Given the description of an element on the screen output the (x, y) to click on. 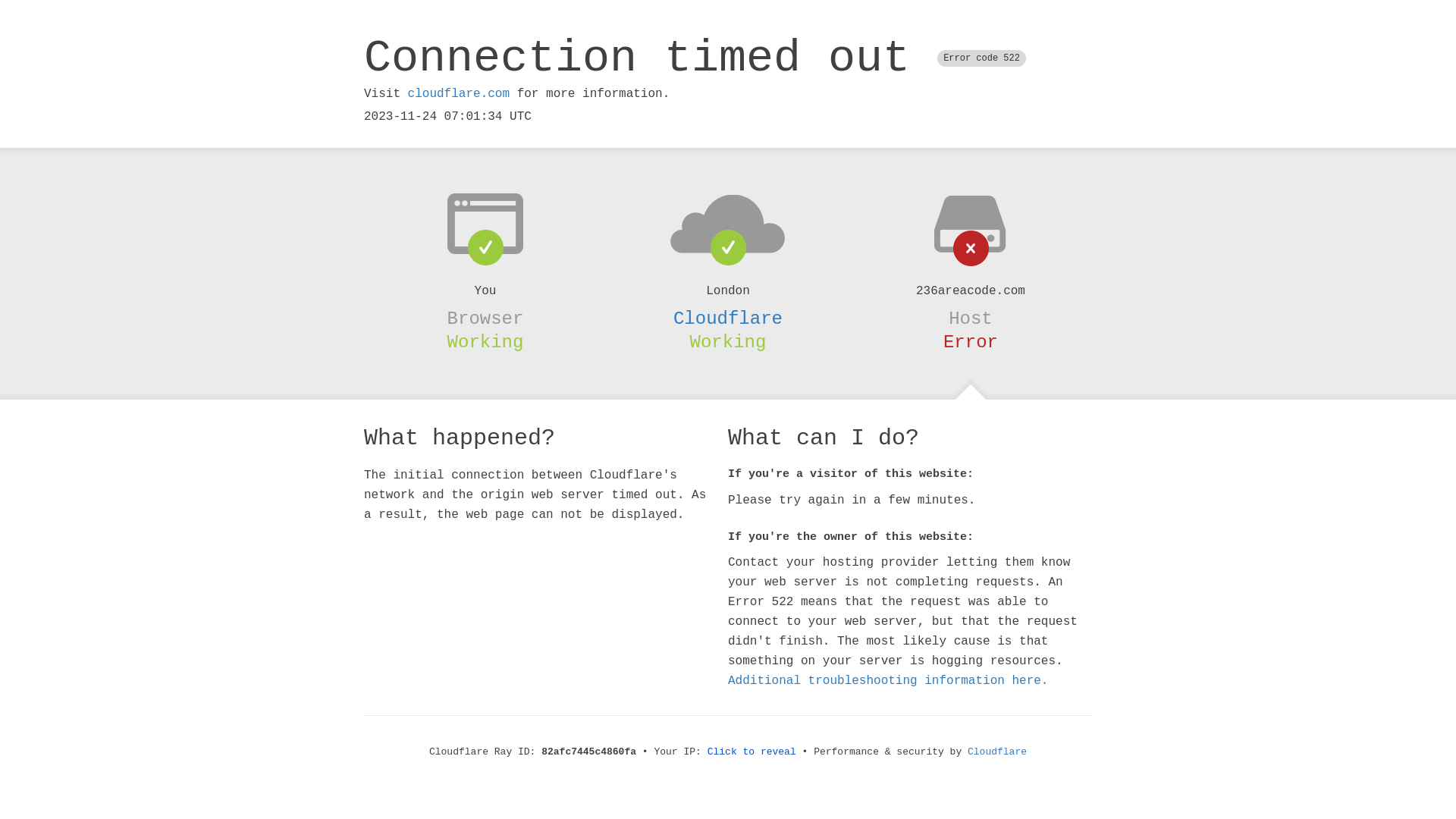
Click to reveal Element type: text (751, 751)
Additional troubleshooting information here. Element type: text (888, 680)
Cloudflare Element type: text (727, 318)
Cloudflare Element type: text (996, 751)
cloudflare.com Element type: text (458, 93)
